Given the description of an element on the screen output the (x, y) to click on. 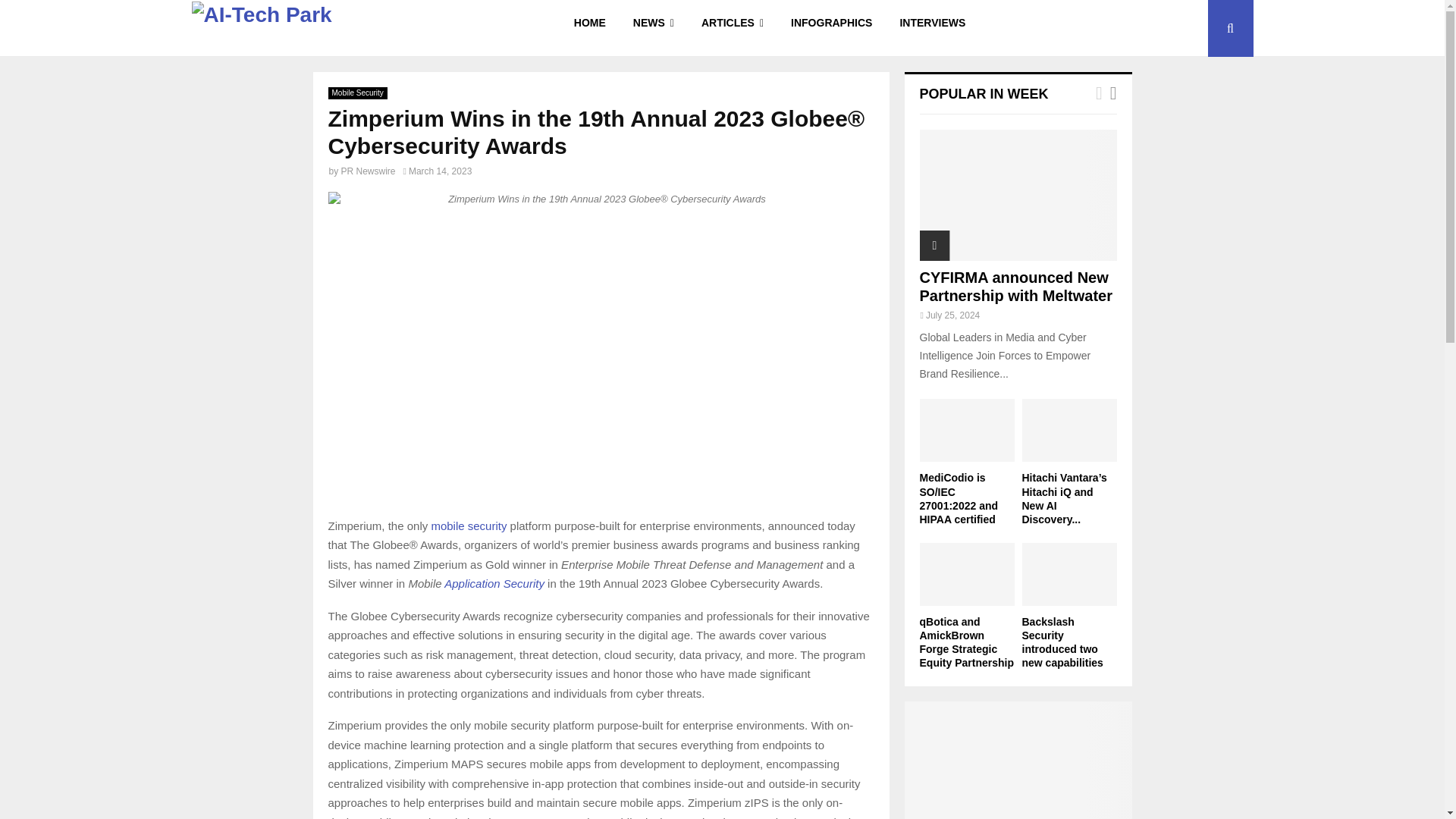
 Backslash Security introduced two new capabilities  (1062, 642)
CYFIRMA announced New Partnership with Meltwater (1017, 195)
 CYFIRMA announced New Partnership with Meltwater  (1015, 286)
HOME (590, 28)
 qBotica and AmickBrown Forge Strategic Equity Partnership  (965, 642)
Backslash Security introduced two new capabilities (1069, 574)
NEWS (653, 28)
qBotica and AmickBrown Forge Strategic Equity Partnership (965, 574)
